Given the description of an element on the screen output the (x, y) to click on. 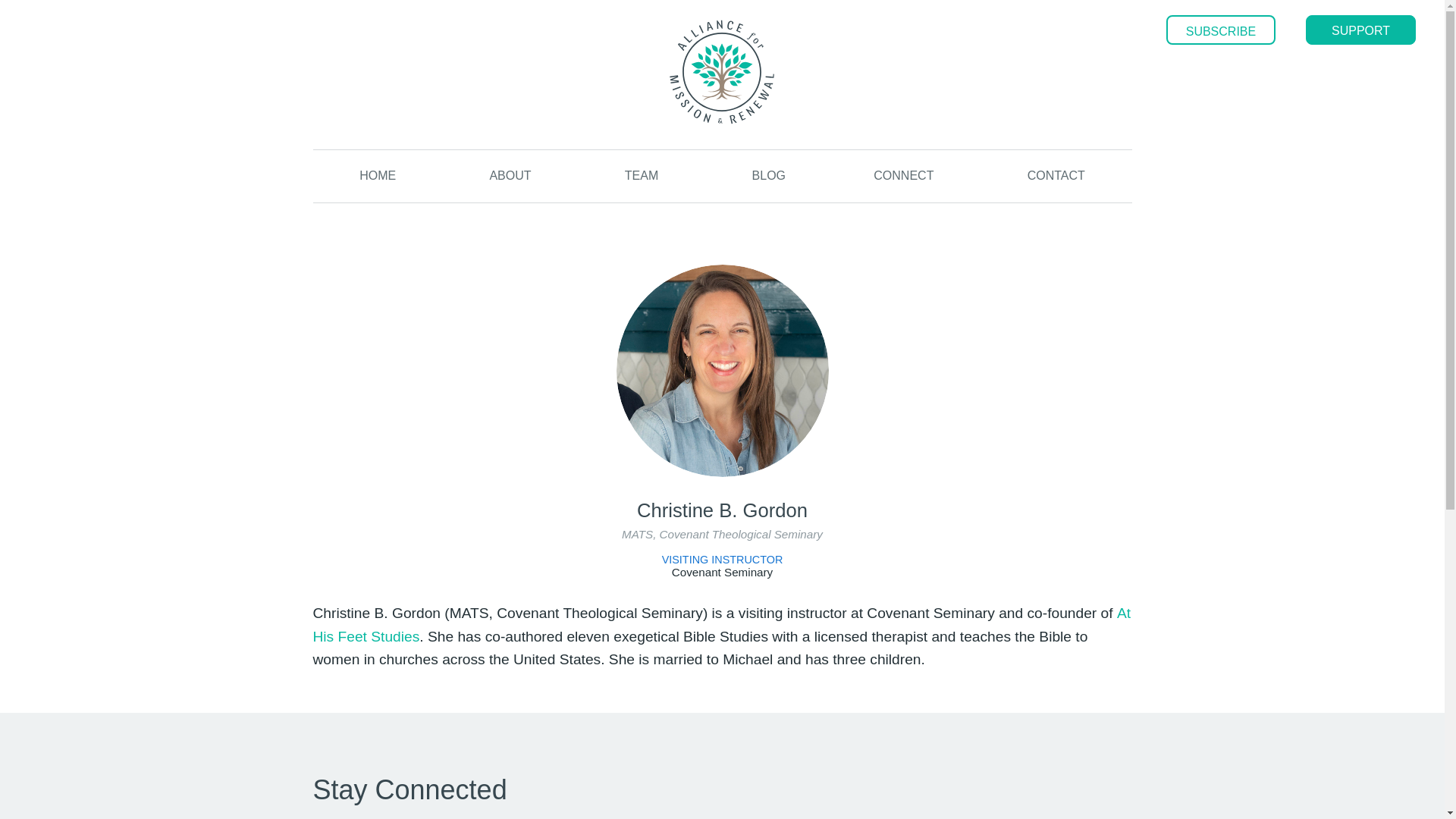
CONTACT (1055, 184)
ABOUT (510, 178)
SUPPORT (1360, 30)
AMR-Updated-Logo-Color (721, 71)
HOME (377, 178)
BLOG (769, 178)
TEAM (641, 178)
CONNECT (903, 178)
SUBSCRIBE (1220, 30)
